Given the description of an element on the screen output the (x, y) to click on. 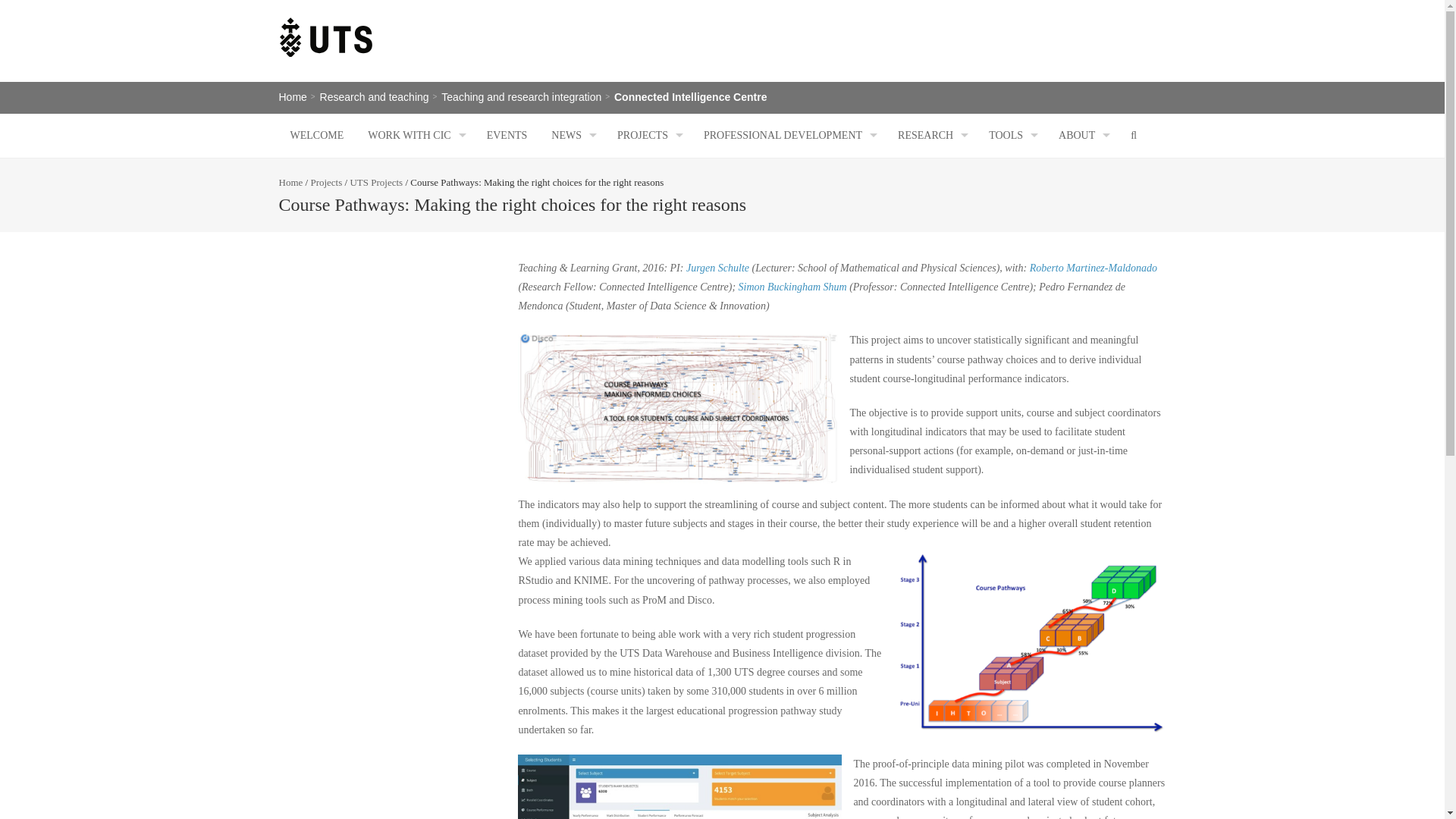
Research and teaching (374, 96)
PROJECTS (647, 135)
UTS (325, 54)
Connected Intelligence Centre (690, 96)
UTS (325, 37)
UTS (325, 54)
EVENTS (507, 135)
PROFESSIONAL DEVELOPMENT (789, 135)
ABOUT (1082, 135)
Home (293, 96)
Teaching and research integration (521, 96)
TOOLS (1010, 135)
WELCOME (317, 135)
NEWS (572, 135)
RESEARCH (930, 135)
